Given the description of an element on the screen output the (x, y) to click on. 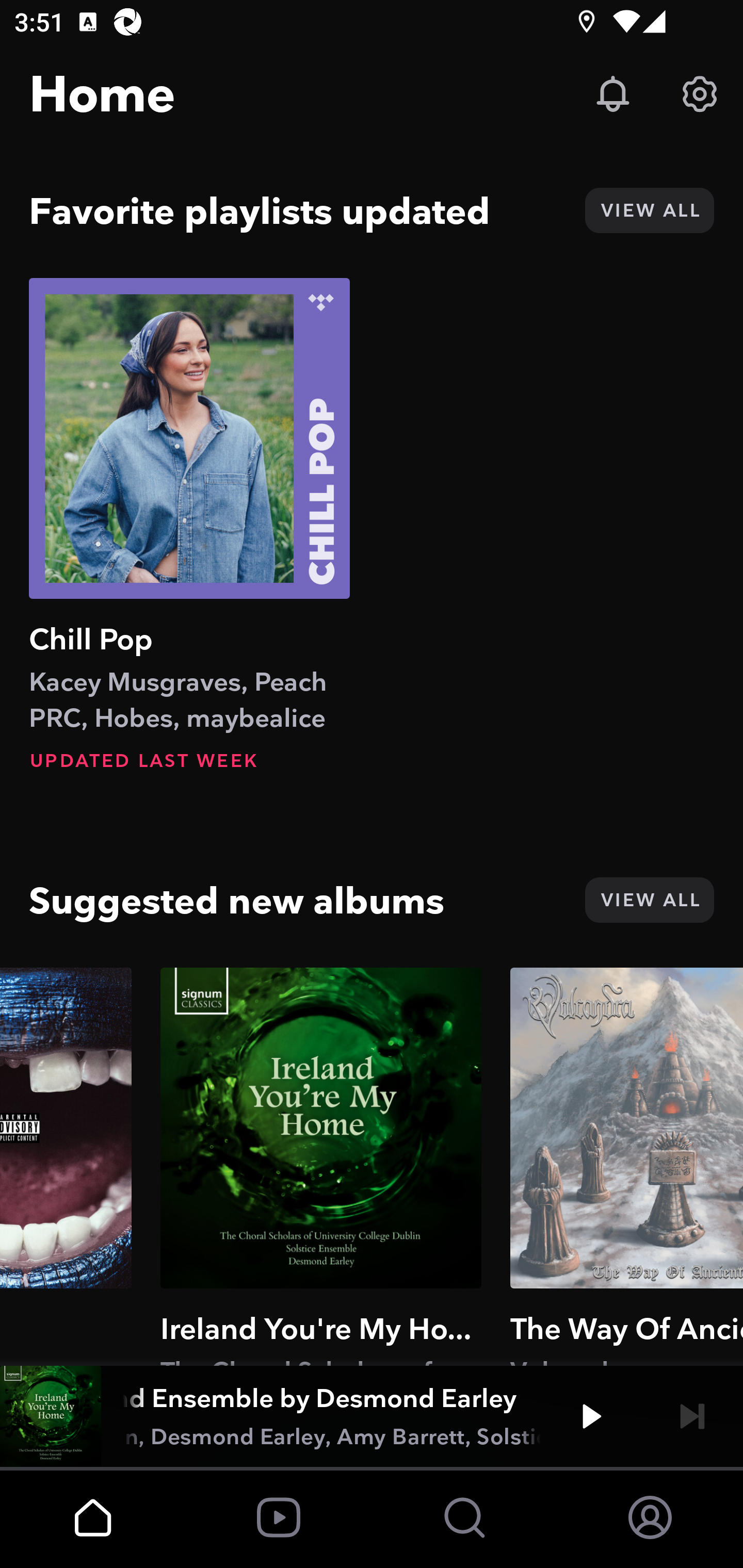
Updates (612, 93)
Settings (699, 93)
VIEW ALL (649, 210)
VIEW ALL (649, 899)
The Way Of Ancients Volcandra (626, 1166)
Play (590, 1416)
